Given the description of an element on the screen output the (x, y) to click on. 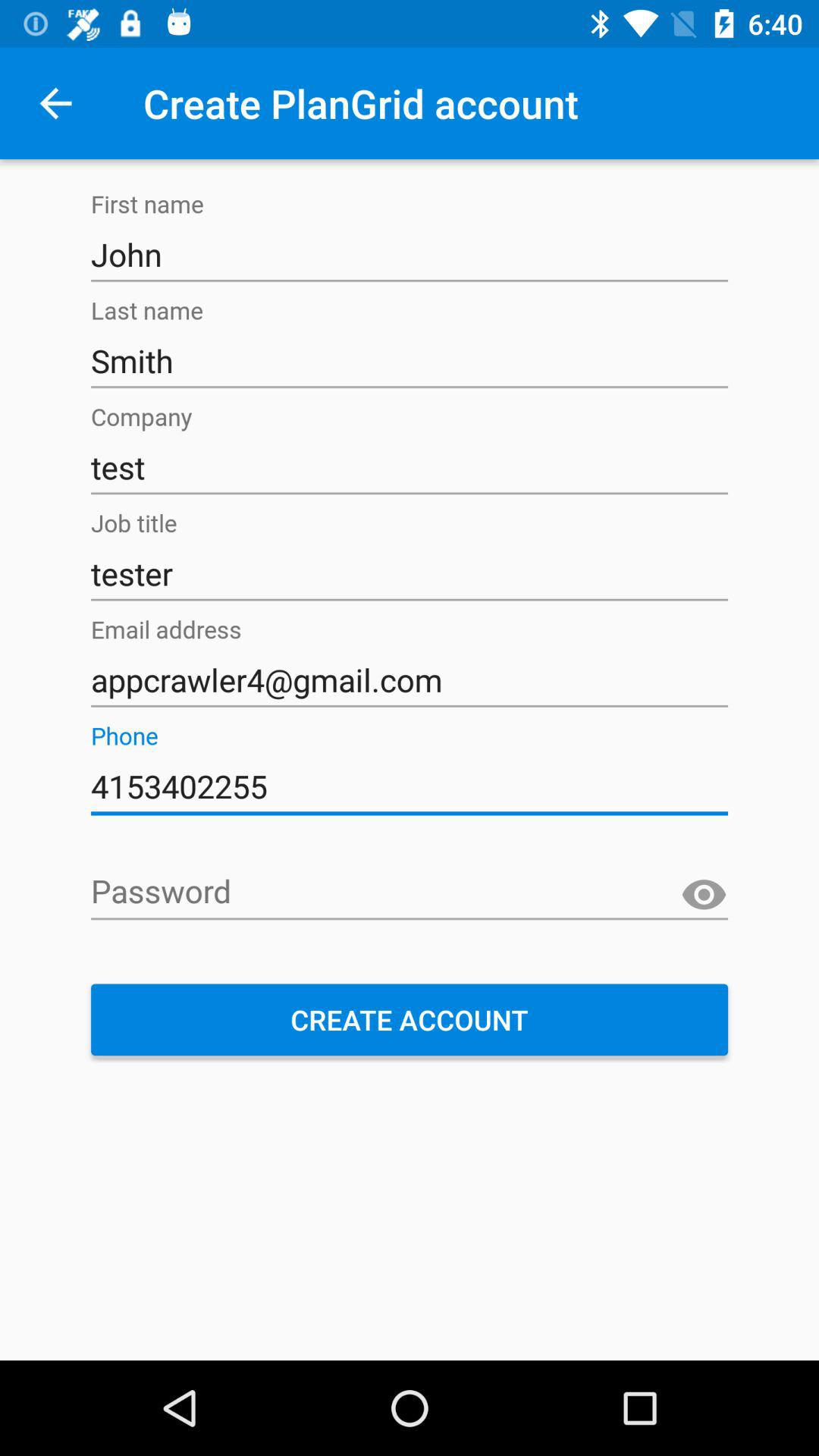
account password (409, 892)
